Given the description of an element on the screen output the (x, y) to click on. 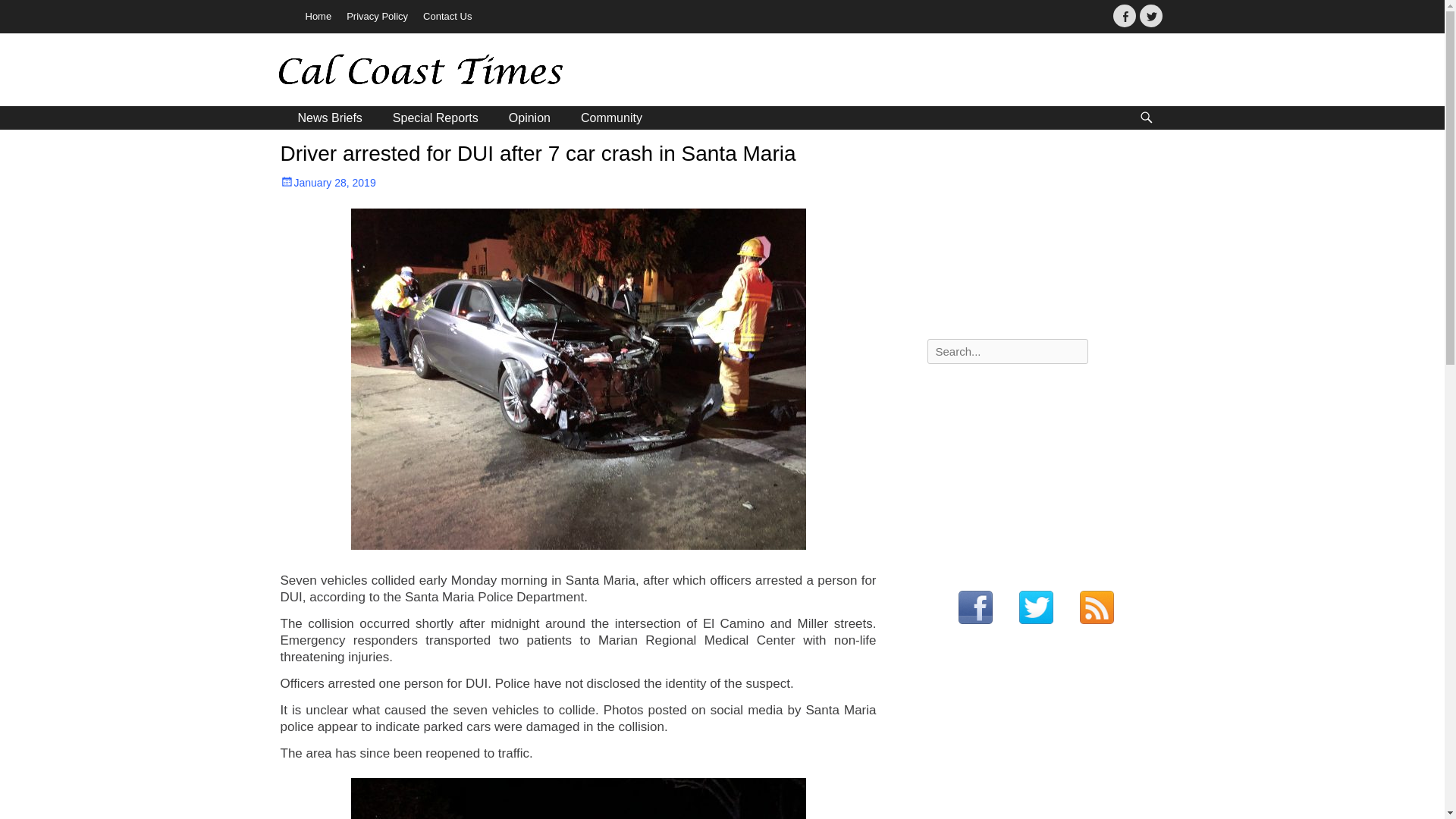
Special Reports (435, 117)
3rd party ad content (900, 70)
Facebook (1124, 15)
News Briefs (329, 117)
Home (318, 16)
January 28, 2019 (328, 182)
Search (24, 9)
Privacy Policy (376, 16)
Cal Coast Times (386, 72)
Community (612, 117)
Facebook (1124, 15)
Cal Coast Times on Twitter (1035, 608)
Opinion (529, 117)
Cal Coast Times RSS Feed (1096, 608)
